Given the description of an element on the screen output the (x, y) to click on. 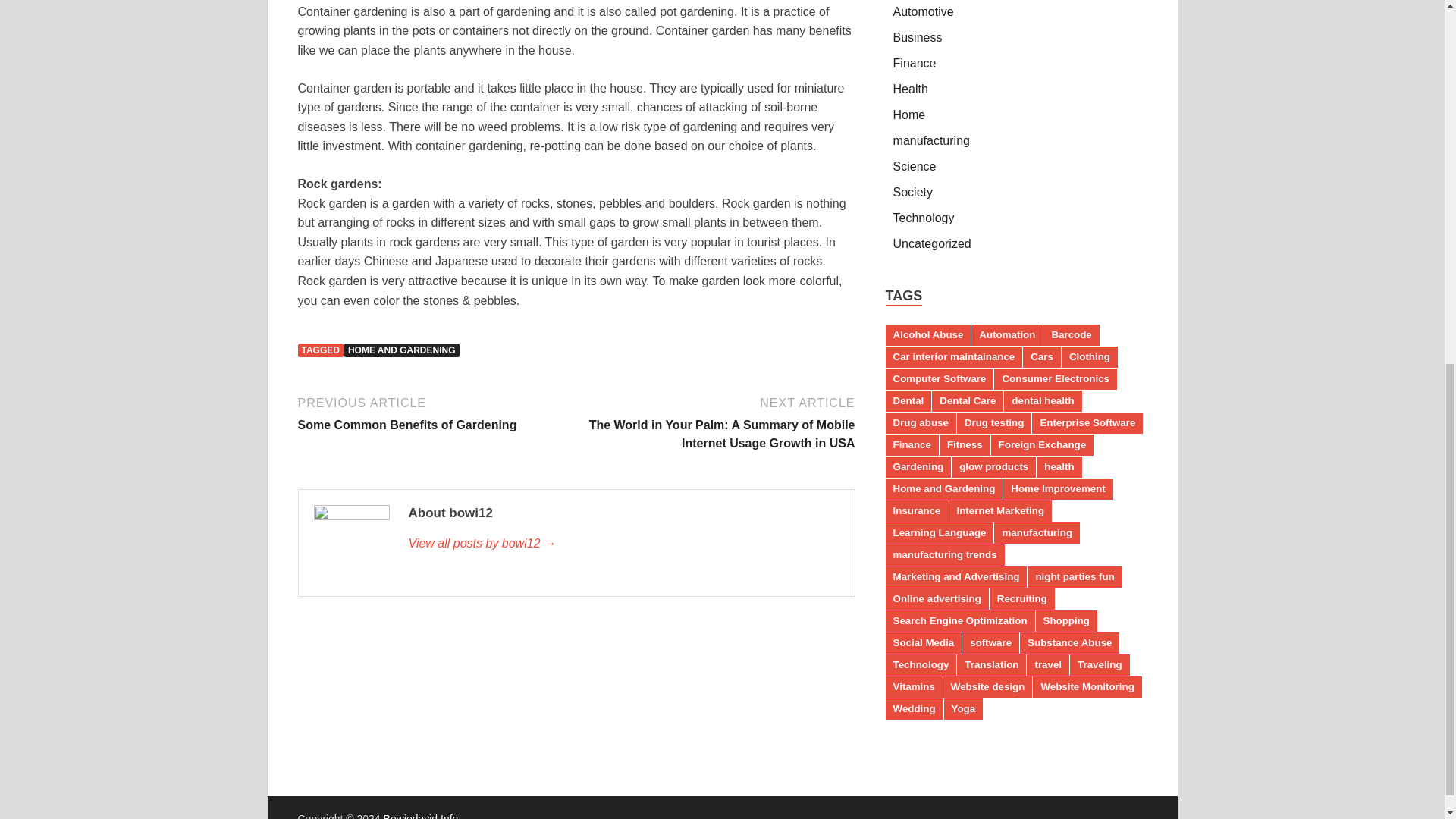
Finance (914, 62)
Health (434, 412)
Automotive (910, 88)
Business (923, 11)
HOME AND GARDENING (917, 37)
bowi12 (401, 350)
